Given the description of an element on the screen output the (x, y) to click on. 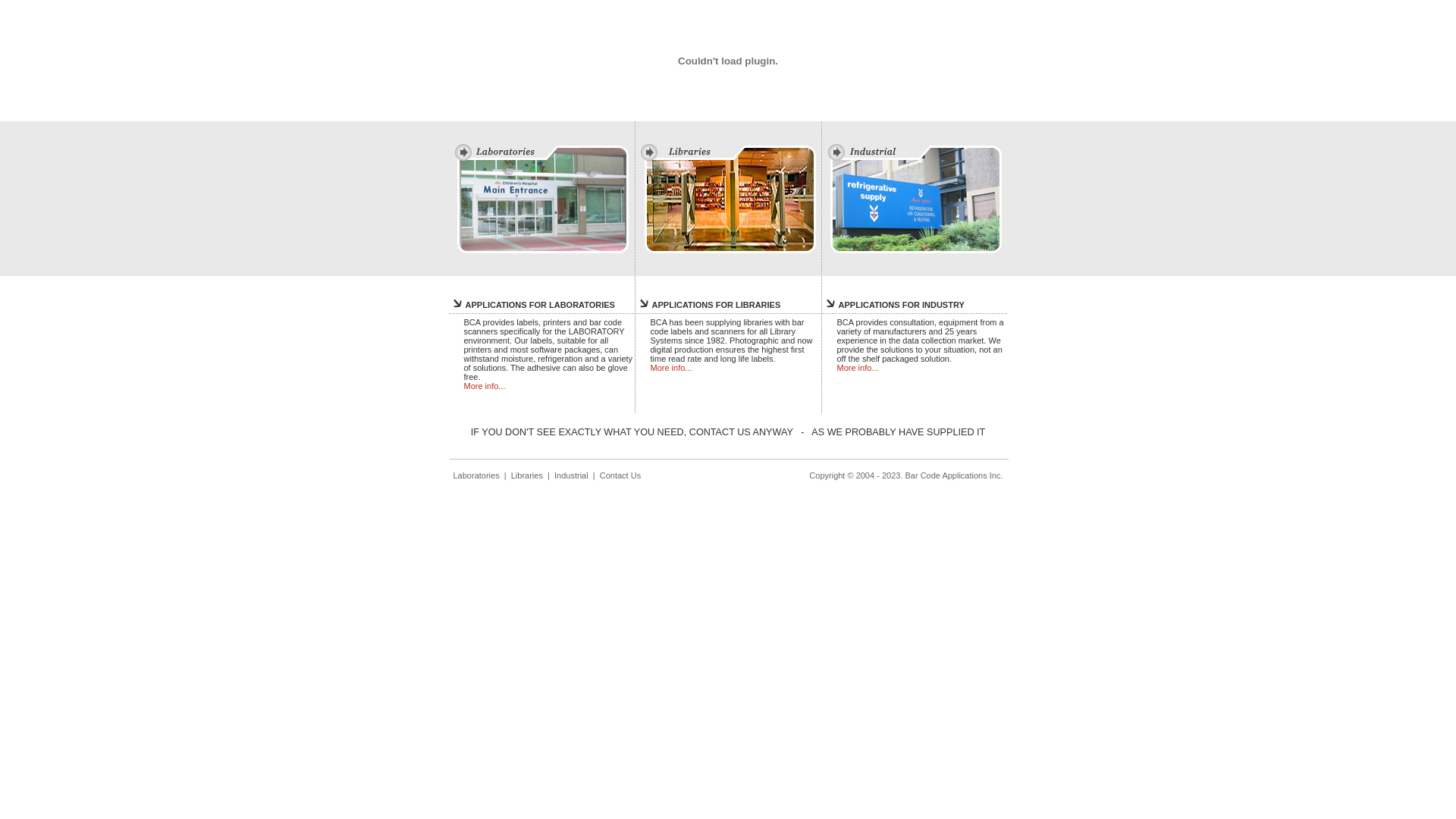
Laboratories Element type: text (476, 475)
APPLICATIONS FOR INDUSTRY Element type: text (901, 304)
More info... Element type: text (484, 385)
Contact Us Element type: text (619, 475)
Libraries Element type: text (526, 475)
APPLICATIONS FOR LABORATORIES Element type: text (540, 304)
APPLICATIONS FOR LIBRARIES Element type: text (716, 304)
More info... Element type: text (857, 367)
Industrial Element type: text (571, 475)
More info... Element type: text (671, 367)
